Given the description of an element on the screen output the (x, y) to click on. 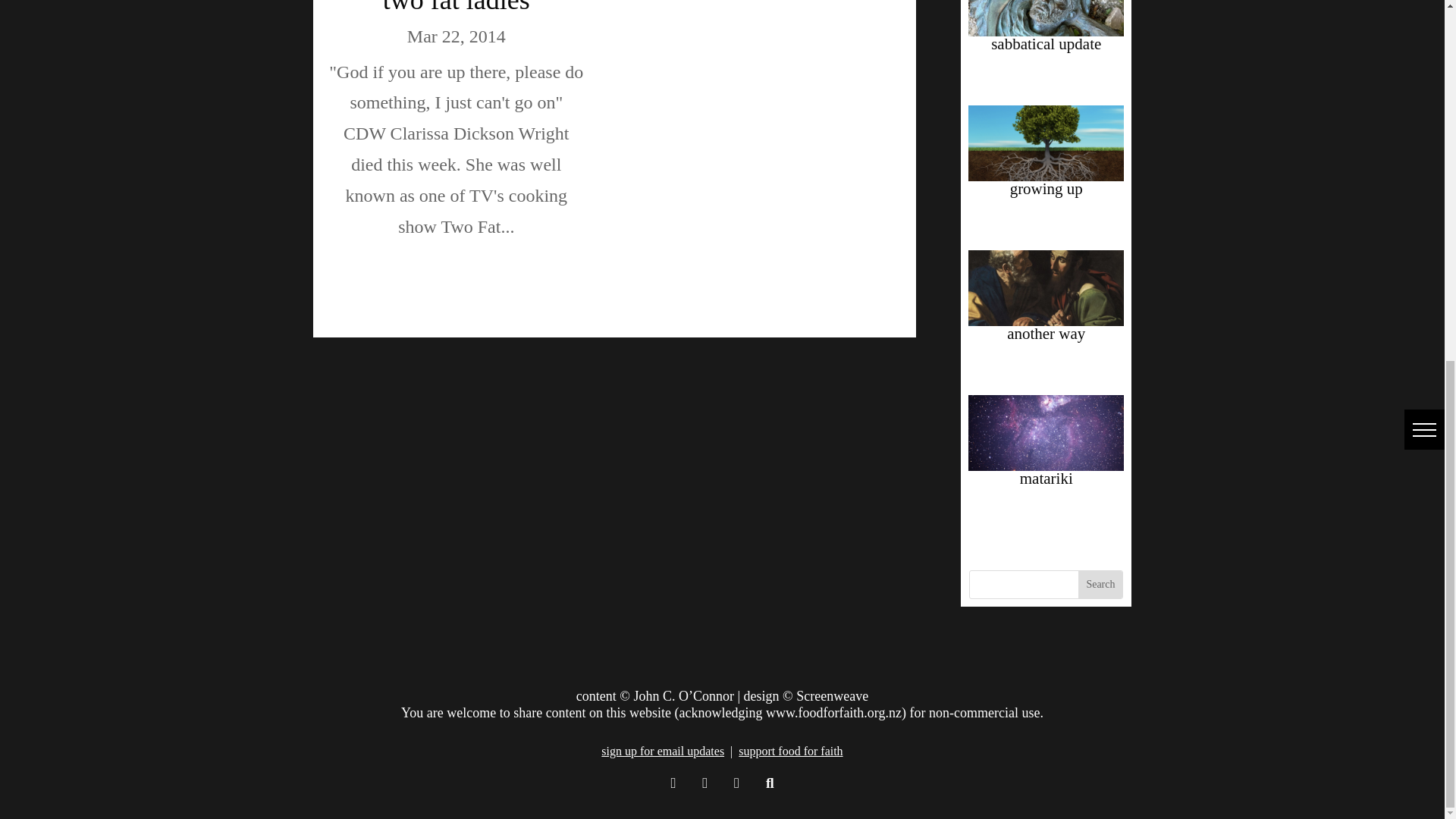
growing up (1046, 188)
Screenweave (831, 695)
Visit the Screenweave website (831, 695)
Search (1100, 584)
Search (1100, 584)
Sign Up (662, 750)
two fat ladies (455, 7)
another way (1045, 333)
matariki (1046, 478)
www.foodforfaith.org.nz (833, 712)
Search (1100, 584)
support food for faith (790, 750)
sign up for email updates (662, 750)
Support (790, 750)
sabbatical update (1045, 44)
